Given the description of an element on the screen output the (x, y) to click on. 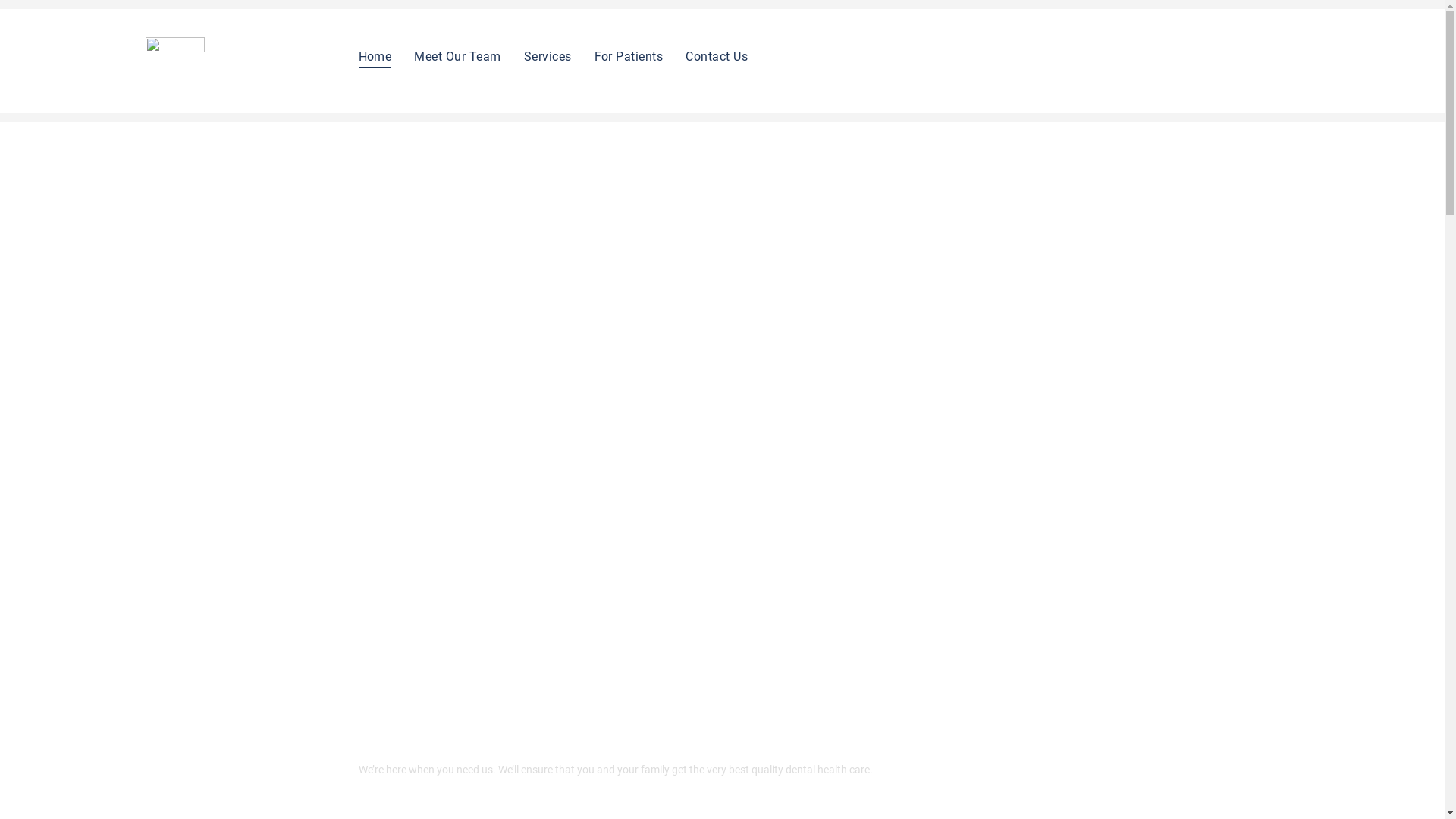
Contact Us Element type: text (716, 56)
Home Element type: text (375, 56)
SEND Element type: text (965, 508)
Meet Our Team Element type: text (456, 56)
Services Element type: text (547, 56)
For Patients Element type: text (628, 56)
